Given the description of an element on the screen output the (x, y) to click on. 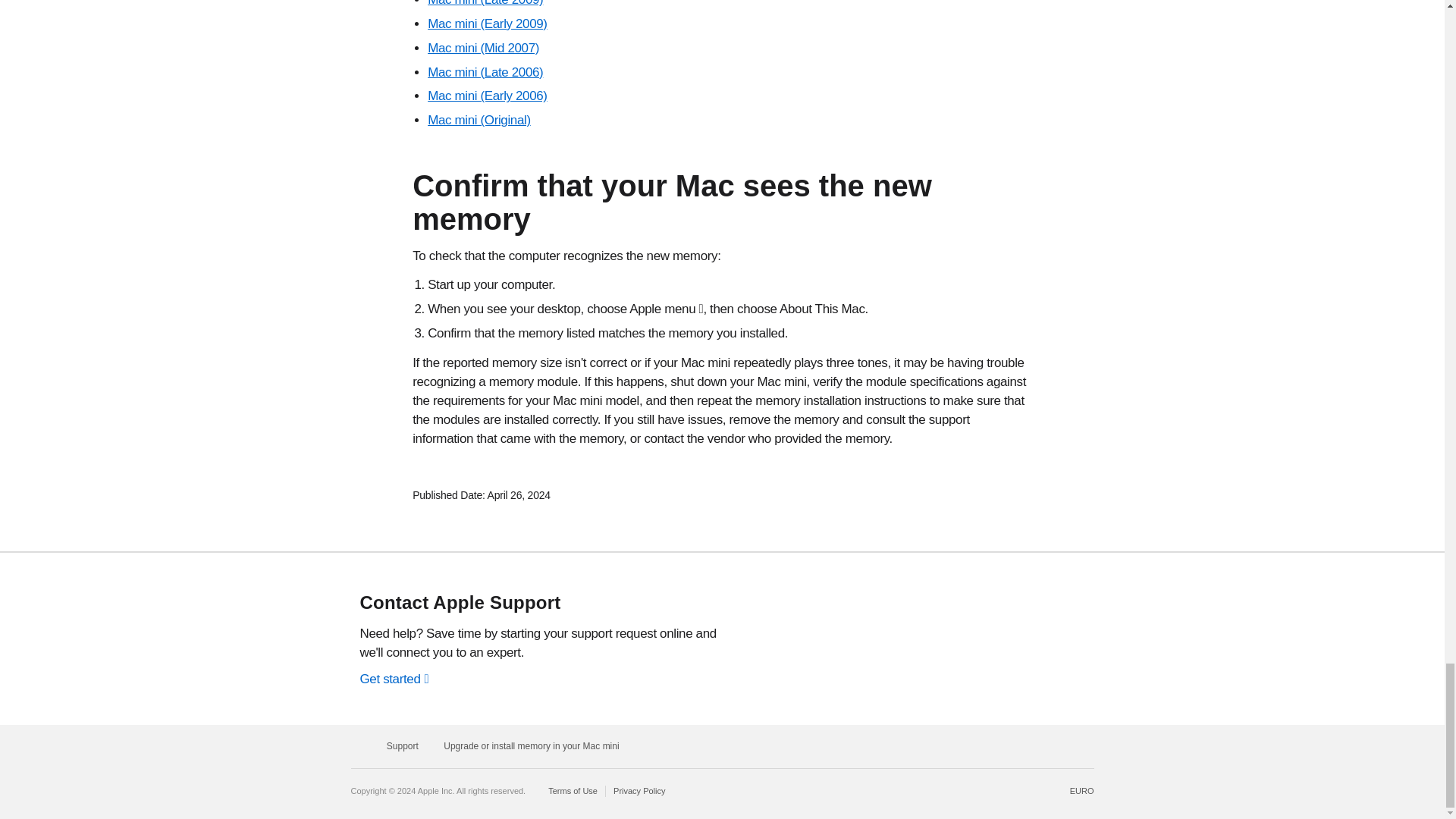
Support (403, 746)
EURO (1082, 790)
Get started (393, 678)
Privacy Policy (638, 790)
Terms of Use (576, 790)
Choose your country or region (1082, 790)
